Given the description of an element on the screen output the (x, y) to click on. 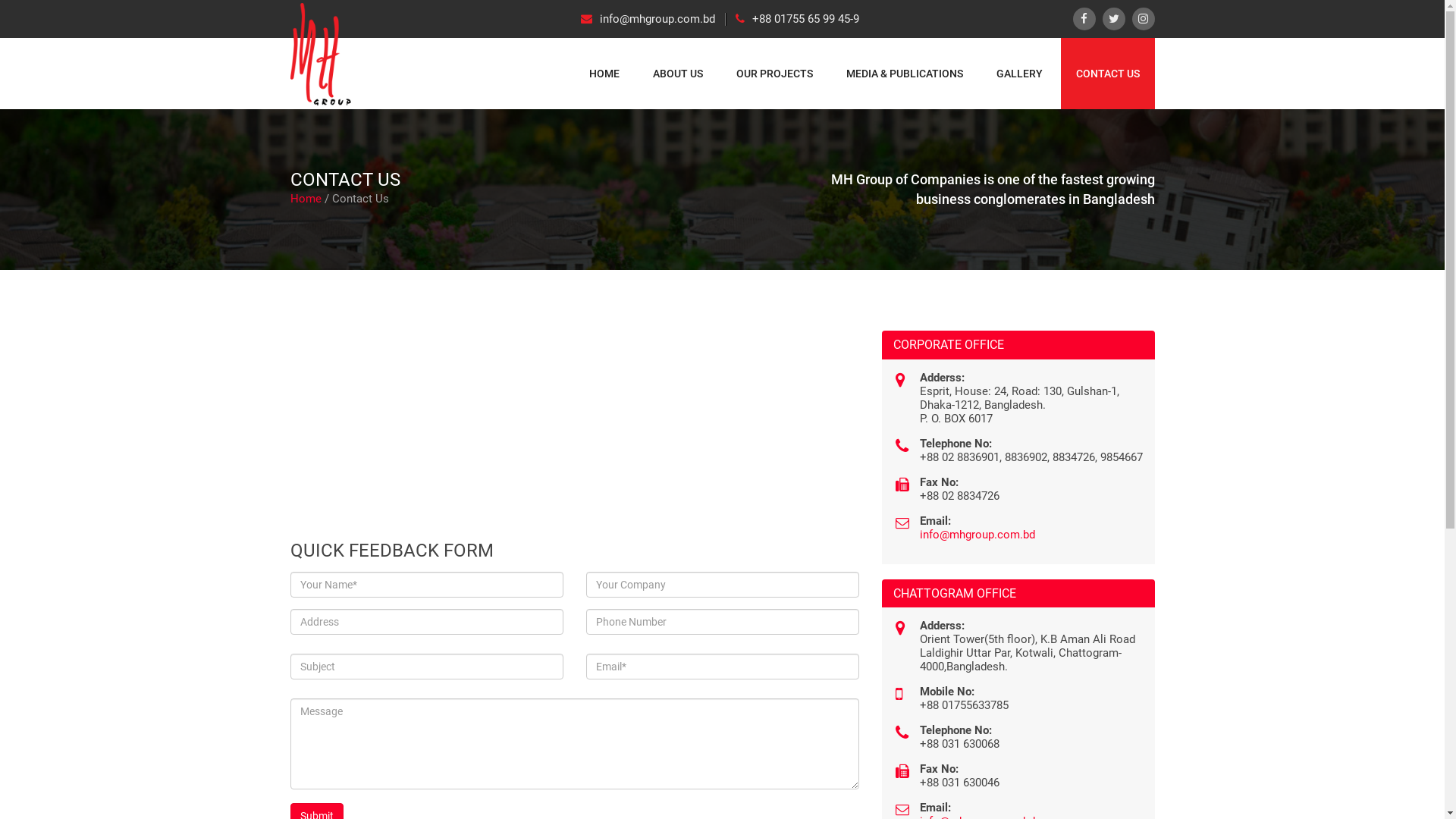
CONTACT US Element type: text (1107, 73)
OUR PROJECTS Element type: text (773, 73)
ABOUT US Element type: text (677, 73)
Home Element type: text (304, 198)
Facebook Element type: hover (1083, 18)
MEDIA & PUBLICATIONS Element type: text (904, 73)
info@mhgroup.com.bd Element type: text (976, 534)
twitter Element type: hover (1113, 18)
info@mhgroup.com.bd Element type: text (653, 18)
+88 01755 65 99 45-9 Element type: text (792, 18)
GALLERY Element type: text (1019, 73)
MH Group Element type: hover (319, 54)
instagram Element type: hover (1142, 18)
HOME Element type: text (603, 73)
